Given the description of an element on the screen output the (x, y) to click on. 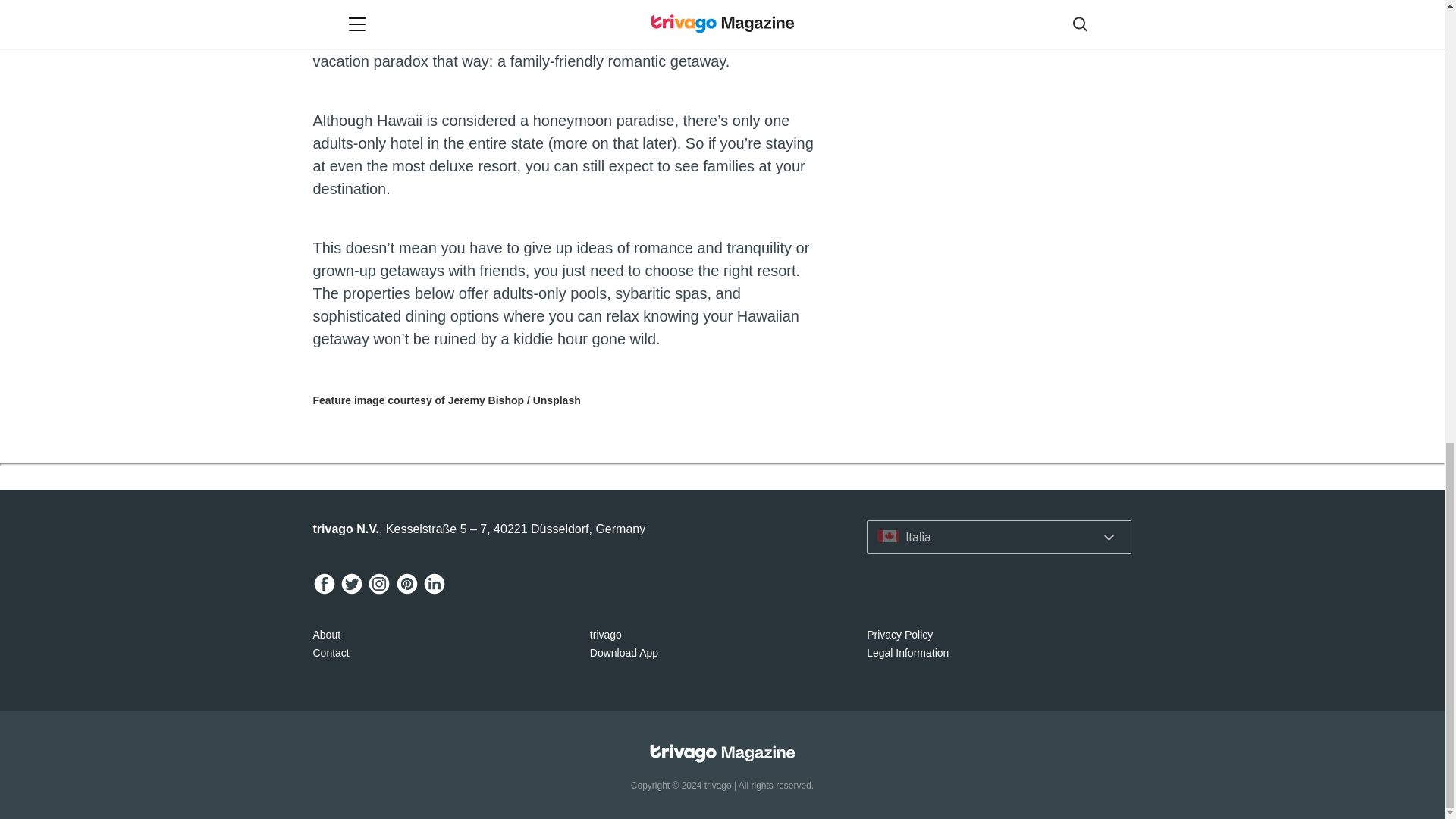
About (326, 634)
Download App (623, 653)
Contact (331, 653)
trivago (605, 634)
Legal Information (907, 653)
Privacy Policy (899, 634)
